Given the description of an element on the screen output the (x, y) to click on. 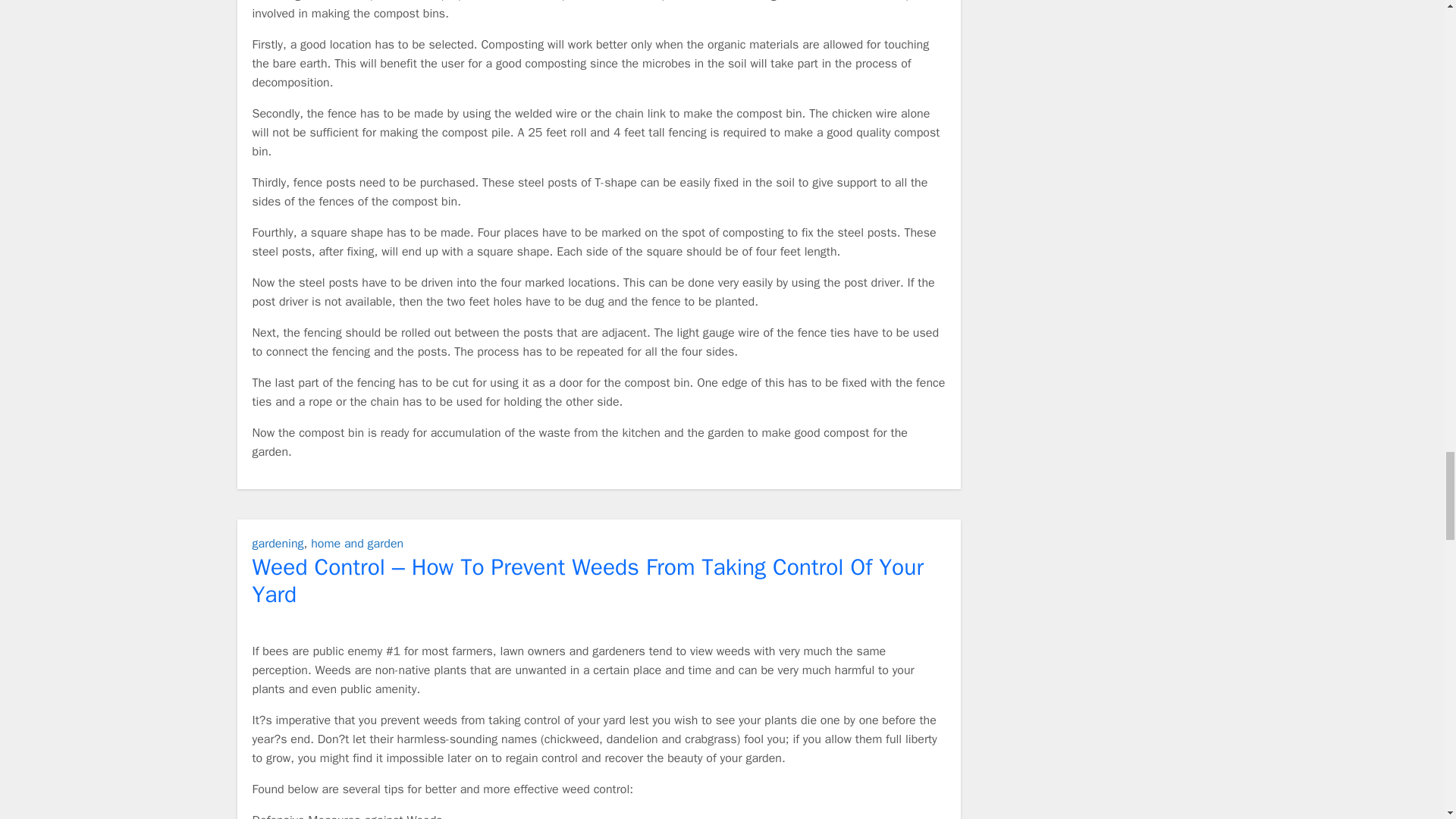
home and garden (357, 542)
gardening (276, 542)
